Given the description of an element on the screen output the (x, y) to click on. 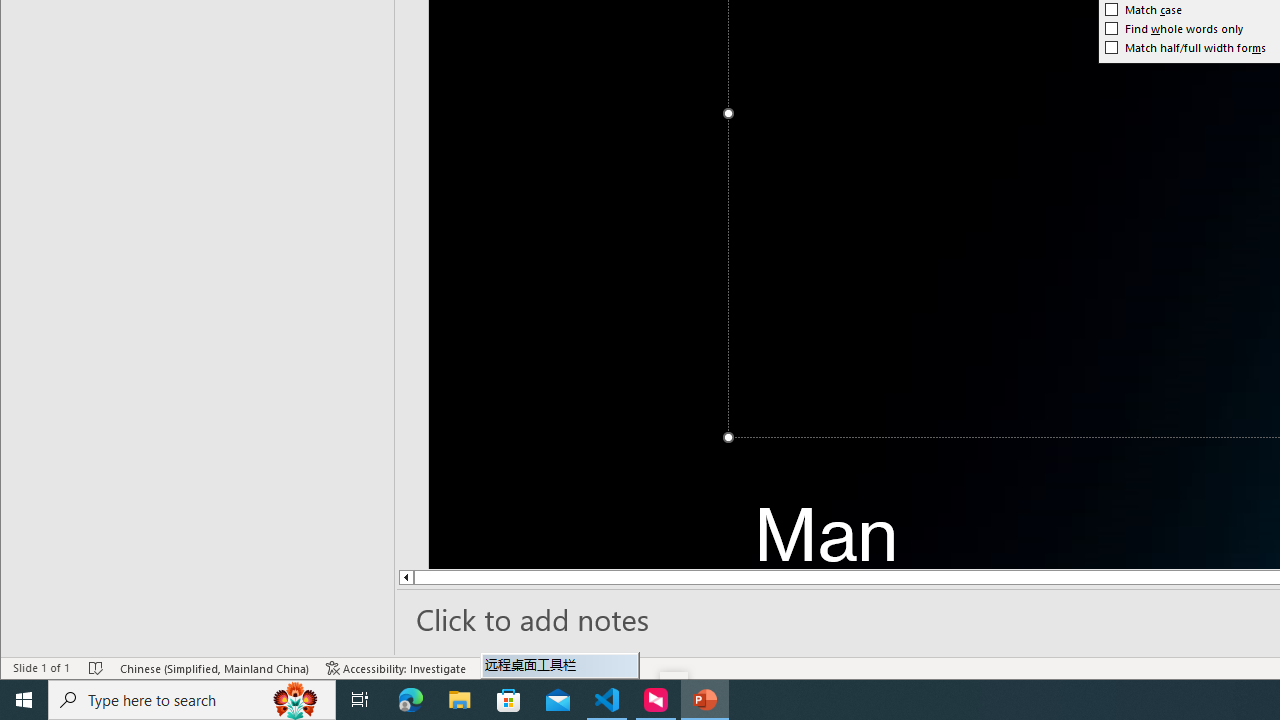
Match case (1144, 10)
Microsoft Edge (411, 699)
Find whole words only (1174, 28)
